Given the description of an element on the screen output the (x, y) to click on. 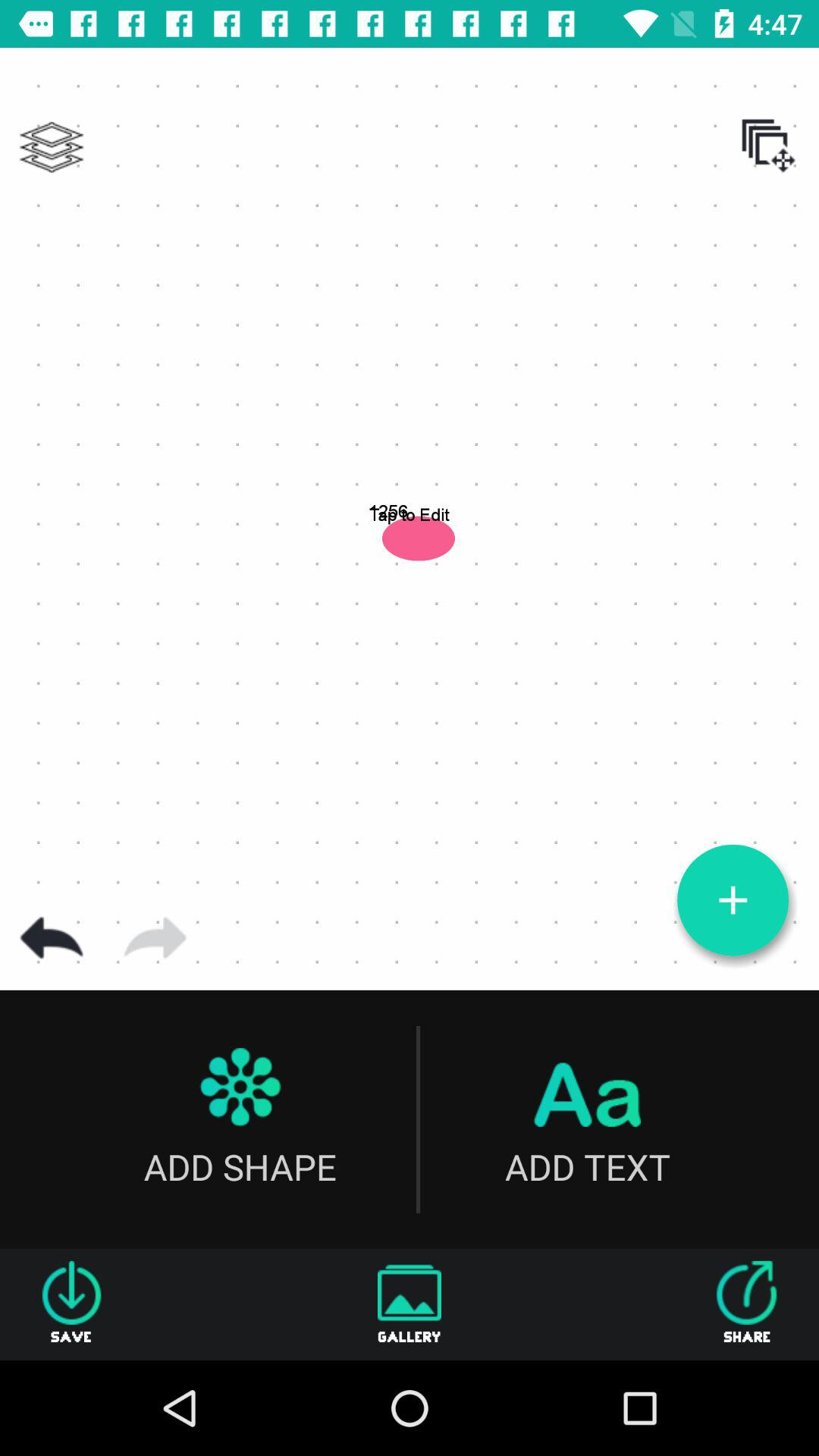
go back (51, 938)
